Given the description of an element on the screen output the (x, y) to click on. 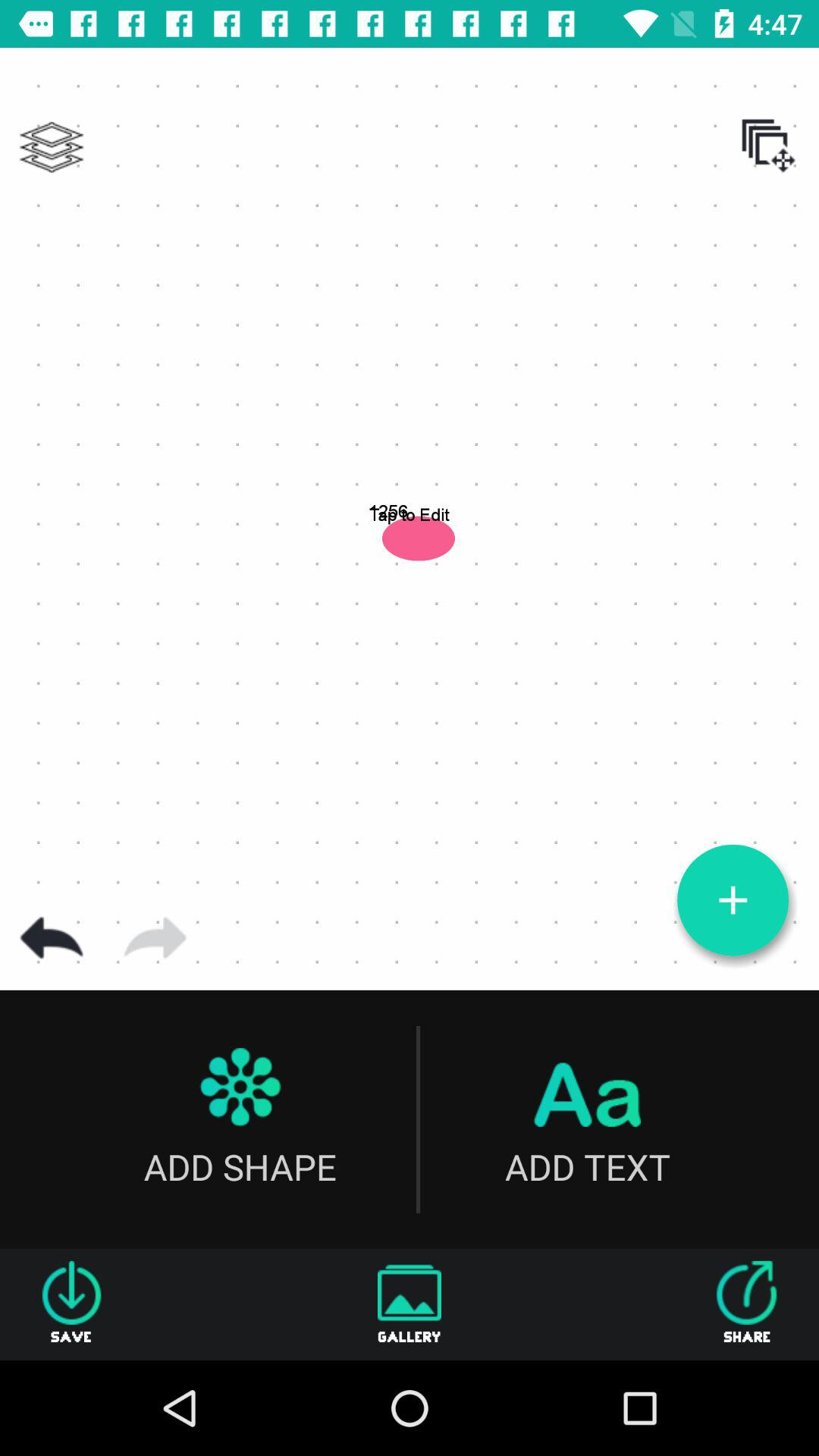
go back (51, 938)
